Given the description of an element on the screen output the (x, y) to click on. 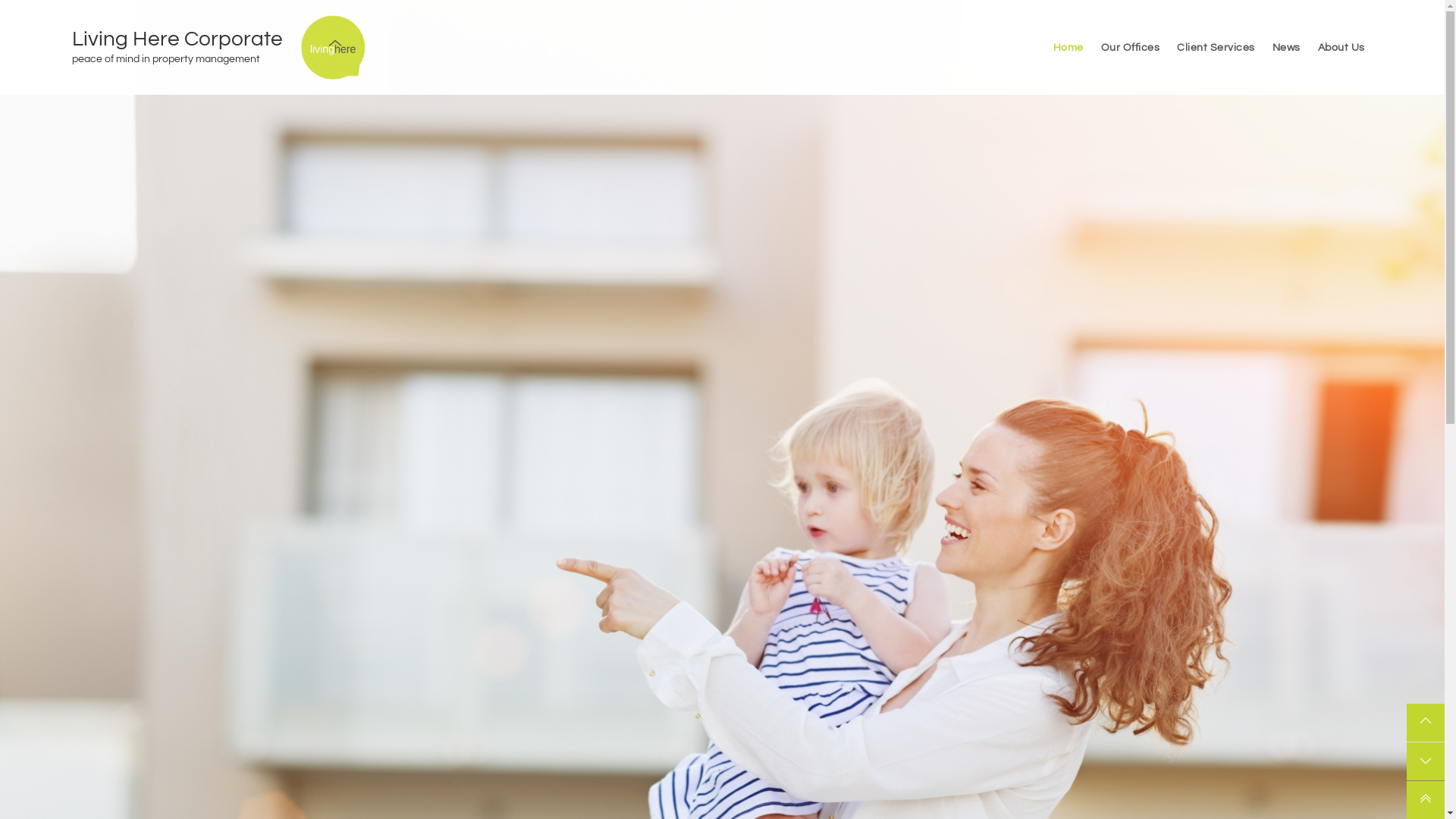
About Us Element type: text (1341, 46)
Home Element type: text (1068, 46)
Our Offices Element type: text (1130, 46)
News Element type: text (1286, 46)
Living Here Corporate
peace of mind in property management Element type: text (186, 47)
Client Services Element type: text (1215, 46)
